Given the description of an element on the screen output the (x, y) to click on. 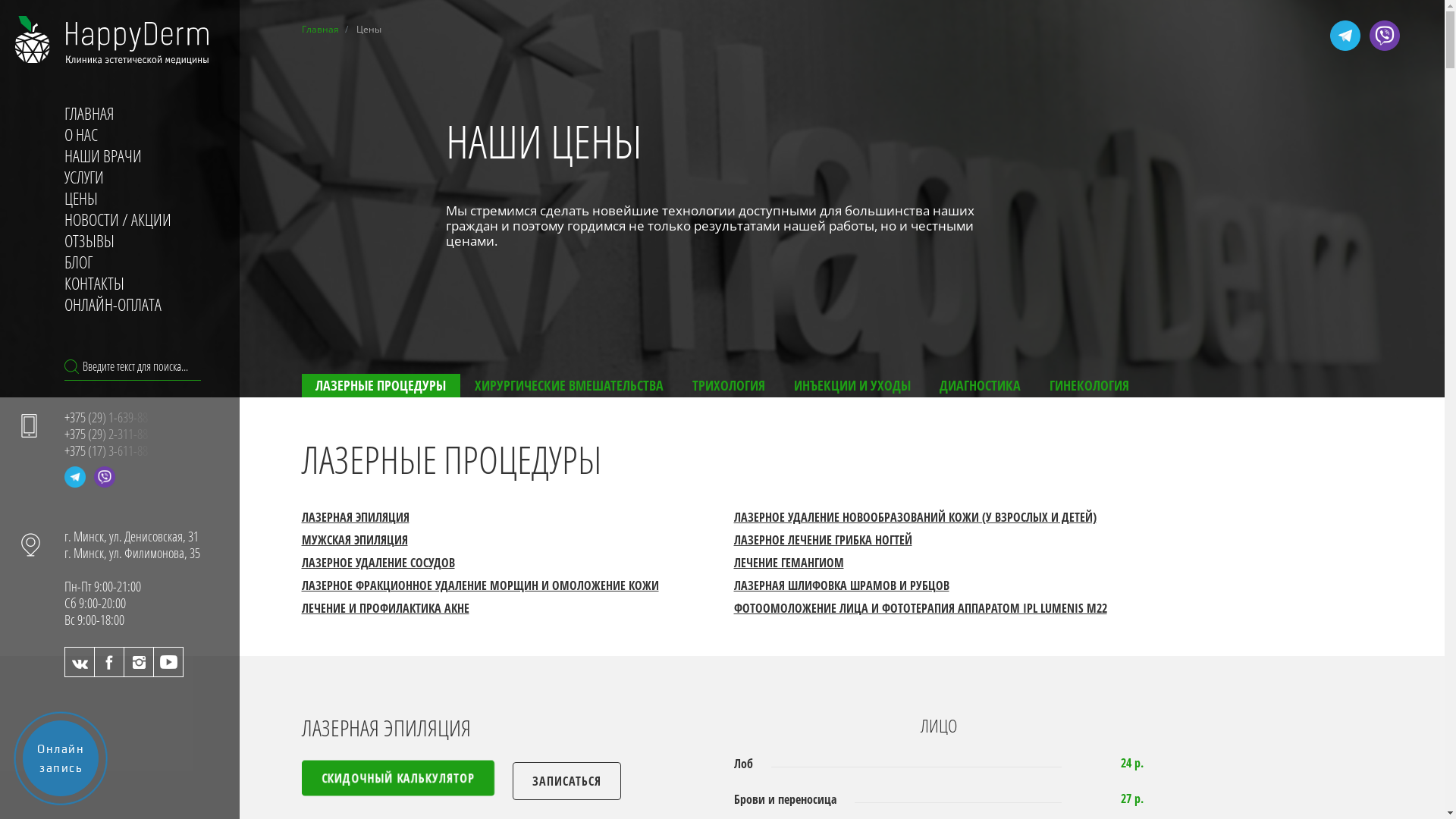
+375 (29) 1-639-88 Element type: text (108, 416)
+375 (17) 3-611-88 Element type: text (108, 450)
+375 (29) 2-311-88 Element type: text (108, 433)
